Given the description of an element on the screen output the (x, y) to click on. 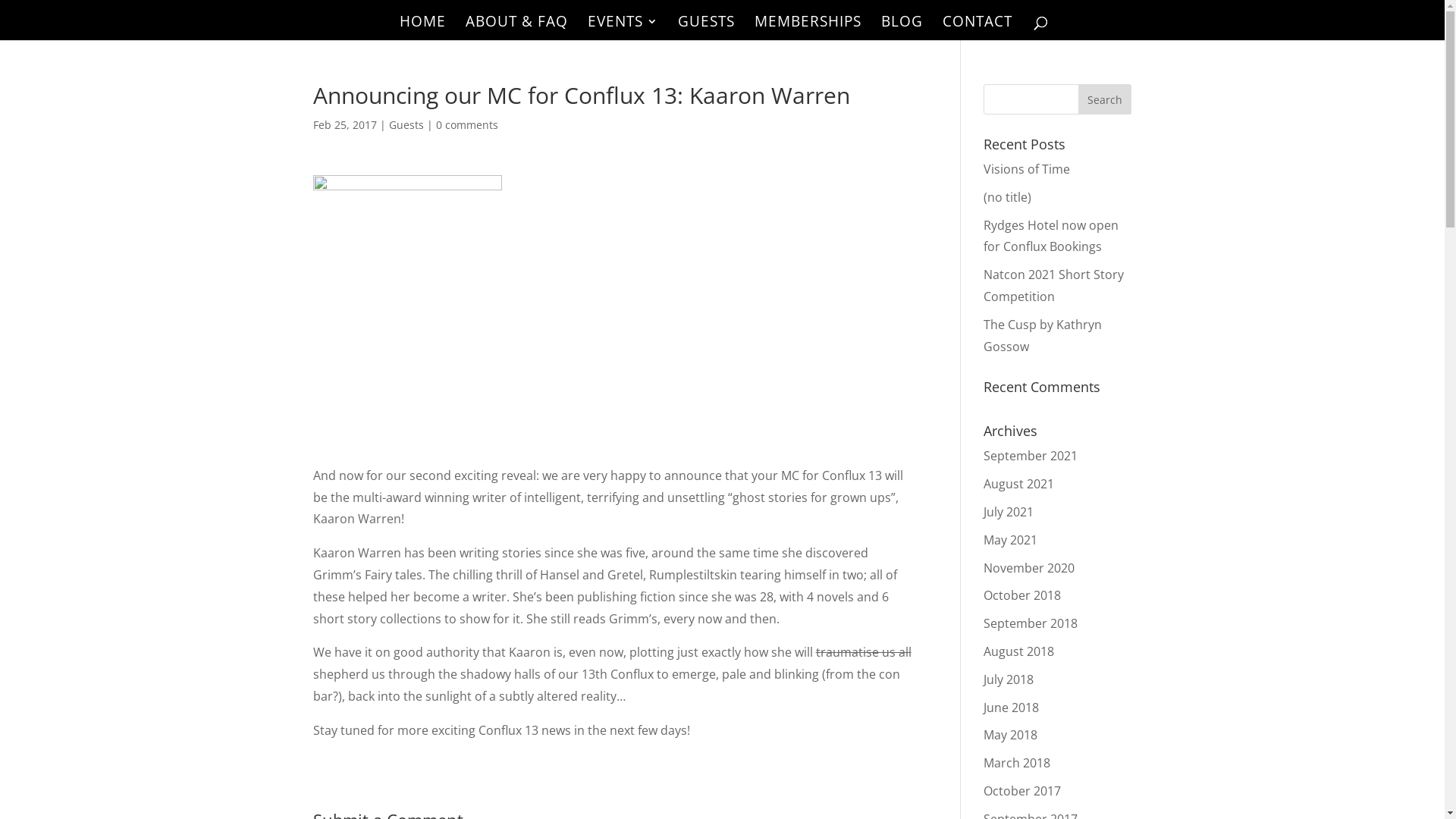
Rydges Hotel now open for Conflux Bookings Element type: text (1050, 235)
August 2018 Element type: text (1018, 651)
Guests Element type: text (405, 124)
July 2018 Element type: text (1008, 679)
May 2021 Element type: text (1010, 539)
November 2020 Element type: text (1028, 567)
September 2018 Element type: text (1030, 623)
(no title) Element type: text (1007, 196)
March 2018 Element type: text (1016, 762)
EVENTS Element type: text (621, 27)
Visions of Time Element type: text (1026, 168)
The Cusp by Kathryn Gossow Element type: text (1042, 335)
May 2018 Element type: text (1010, 734)
July 2021 Element type: text (1008, 511)
Natcon 2021 Short Story Competition Element type: text (1053, 285)
ABOUT & FAQ Element type: text (516, 27)
GUESTS Element type: text (705, 27)
CONTACT Element type: text (976, 27)
October 2017 Element type: text (1021, 790)
BLOG Element type: text (901, 27)
0 comments Element type: text (466, 124)
HOME Element type: text (421, 27)
Search Element type: text (1104, 99)
MEMBERSHIPS Element type: text (806, 27)
June 2018 Element type: text (1010, 707)
October 2018 Element type: text (1021, 594)
August 2021 Element type: text (1018, 483)
September 2021 Element type: text (1030, 455)
